Given the description of an element on the screen output the (x, y) to click on. 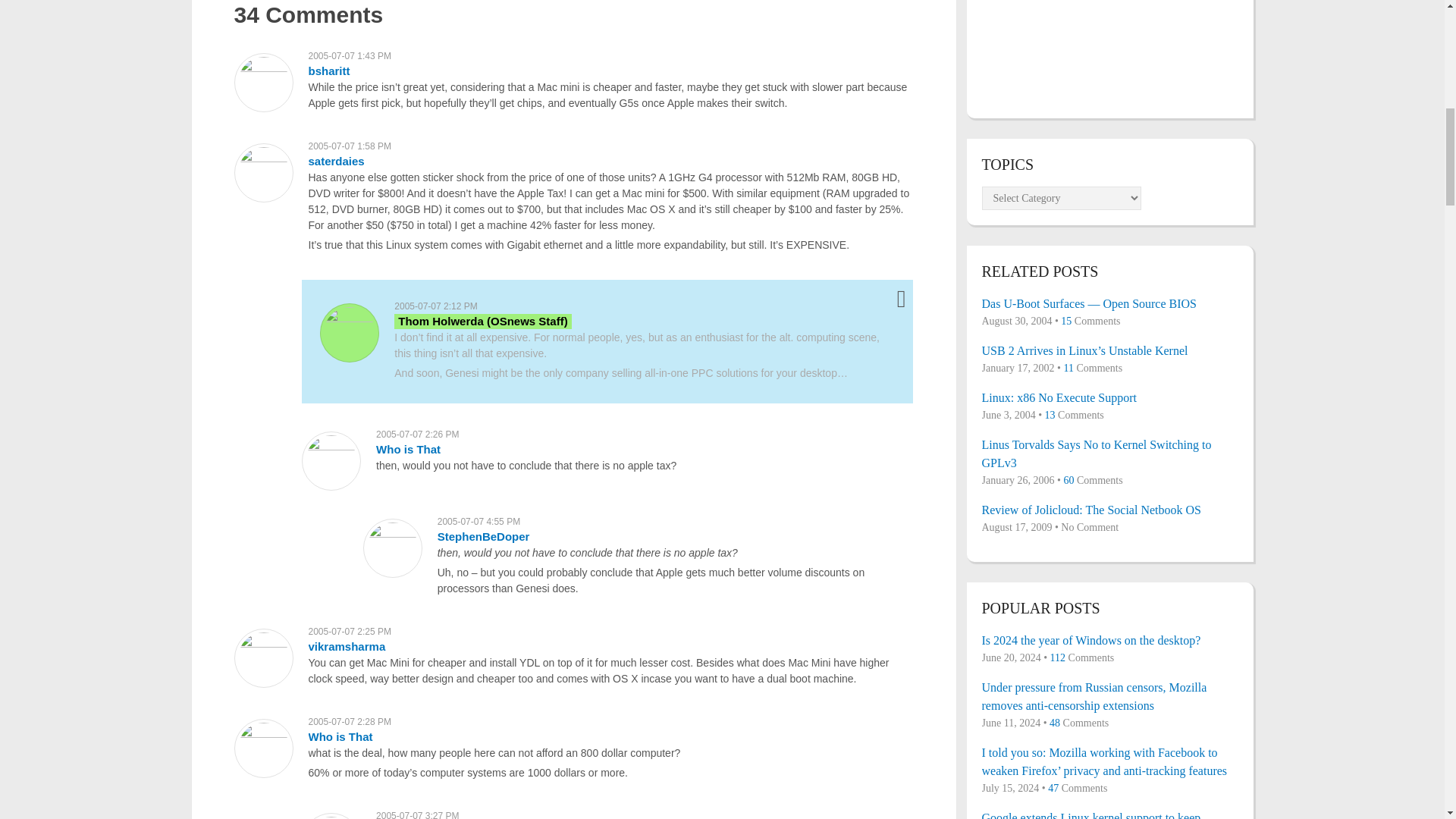
Who is That (339, 736)
bsharitt (328, 70)
StephenBeDoper (483, 535)
Thom Holwerda (482, 320)
saterdaies (335, 160)
vikramsharma (346, 645)
Who is That (408, 449)
